Given the description of an element on the screen output the (x, y) to click on. 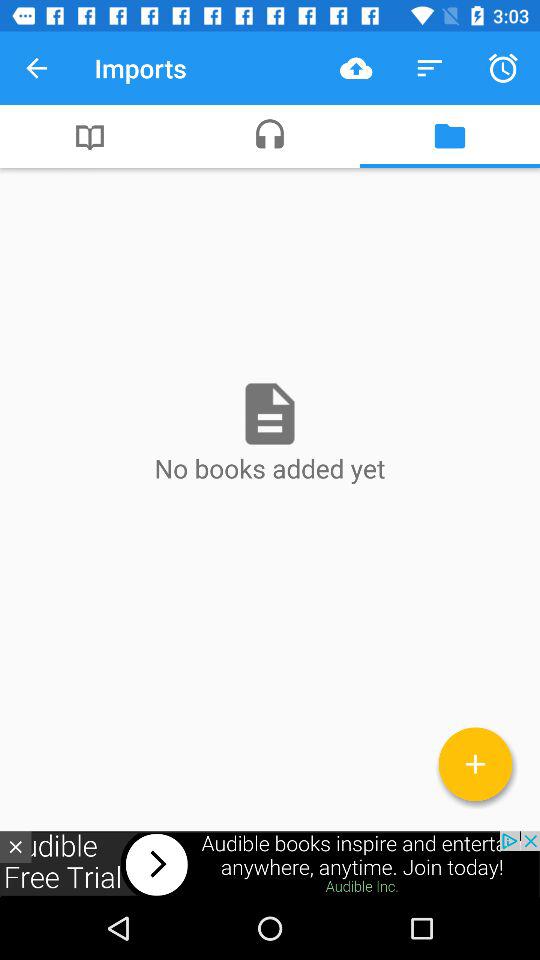
advertisements (270, 864)
